Given the description of an element on the screen output the (x, y) to click on. 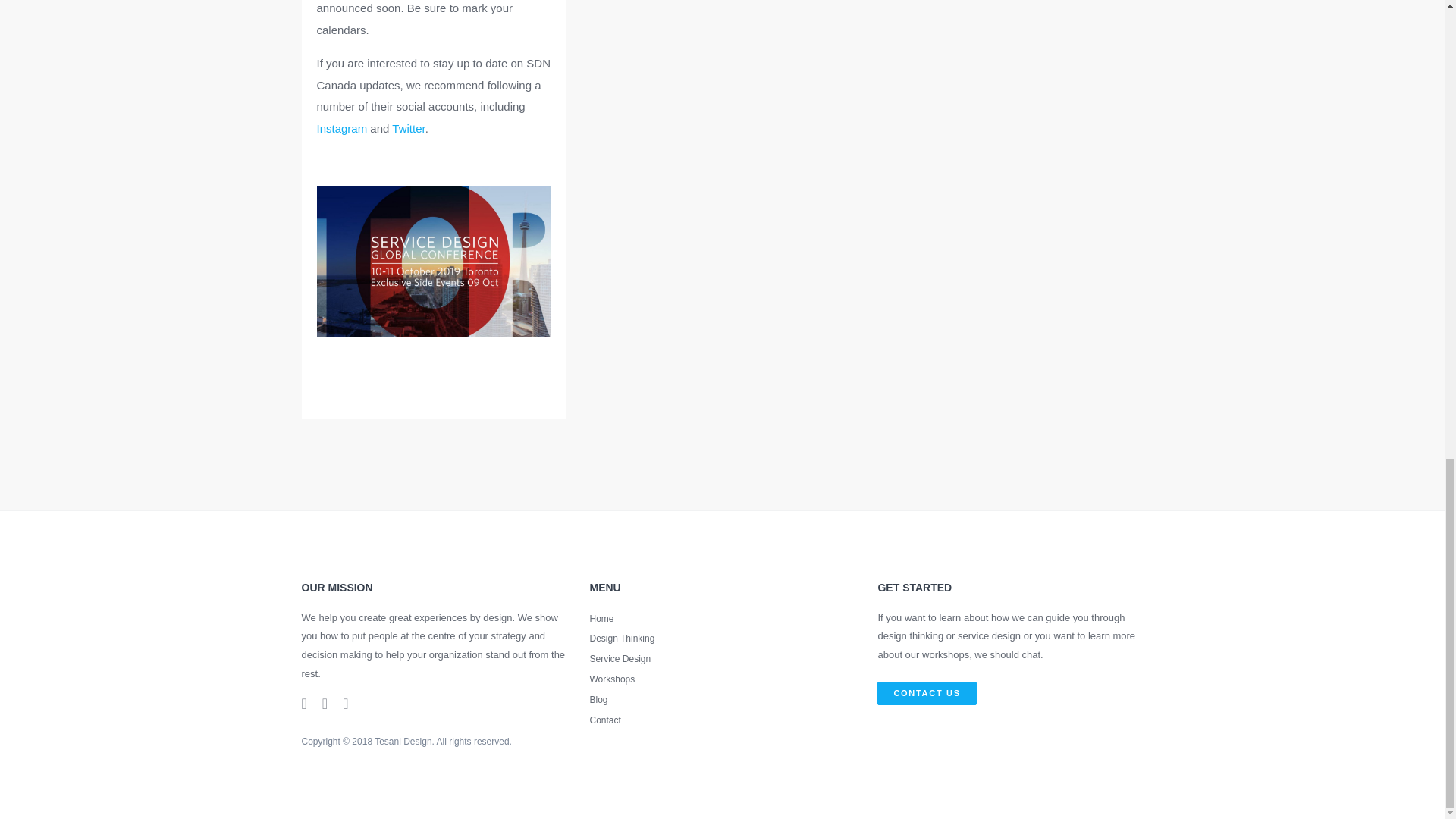
Design Thinking (721, 638)
Home (721, 619)
Contact (721, 720)
Instagram (342, 128)
Workshops (721, 679)
Twitter (408, 128)
Service Design (721, 659)
Blog (721, 700)
CONTACT US (926, 693)
